Given the description of an element on the screen output the (x, y) to click on. 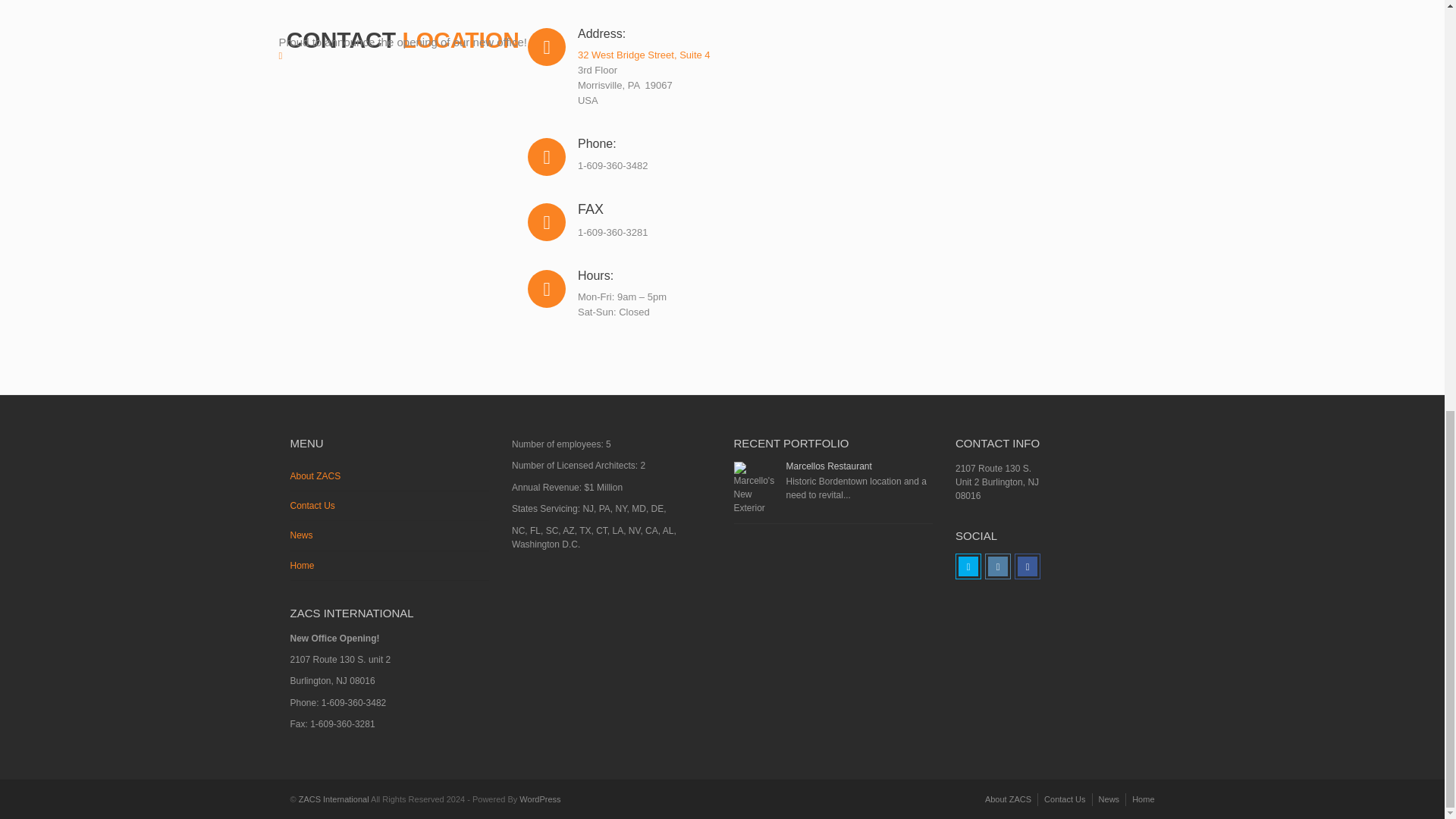
Home (389, 565)
Contact Us (389, 505)
Home (1143, 798)
News (389, 535)
32 West Bridge Street, Suite 4 (644, 54)
WordPress (539, 798)
About ZACS (1007, 798)
Contact Us (1063, 798)
About ZACS (389, 476)
ZACS International (333, 798)
